Given the description of an element on the screen output the (x, y) to click on. 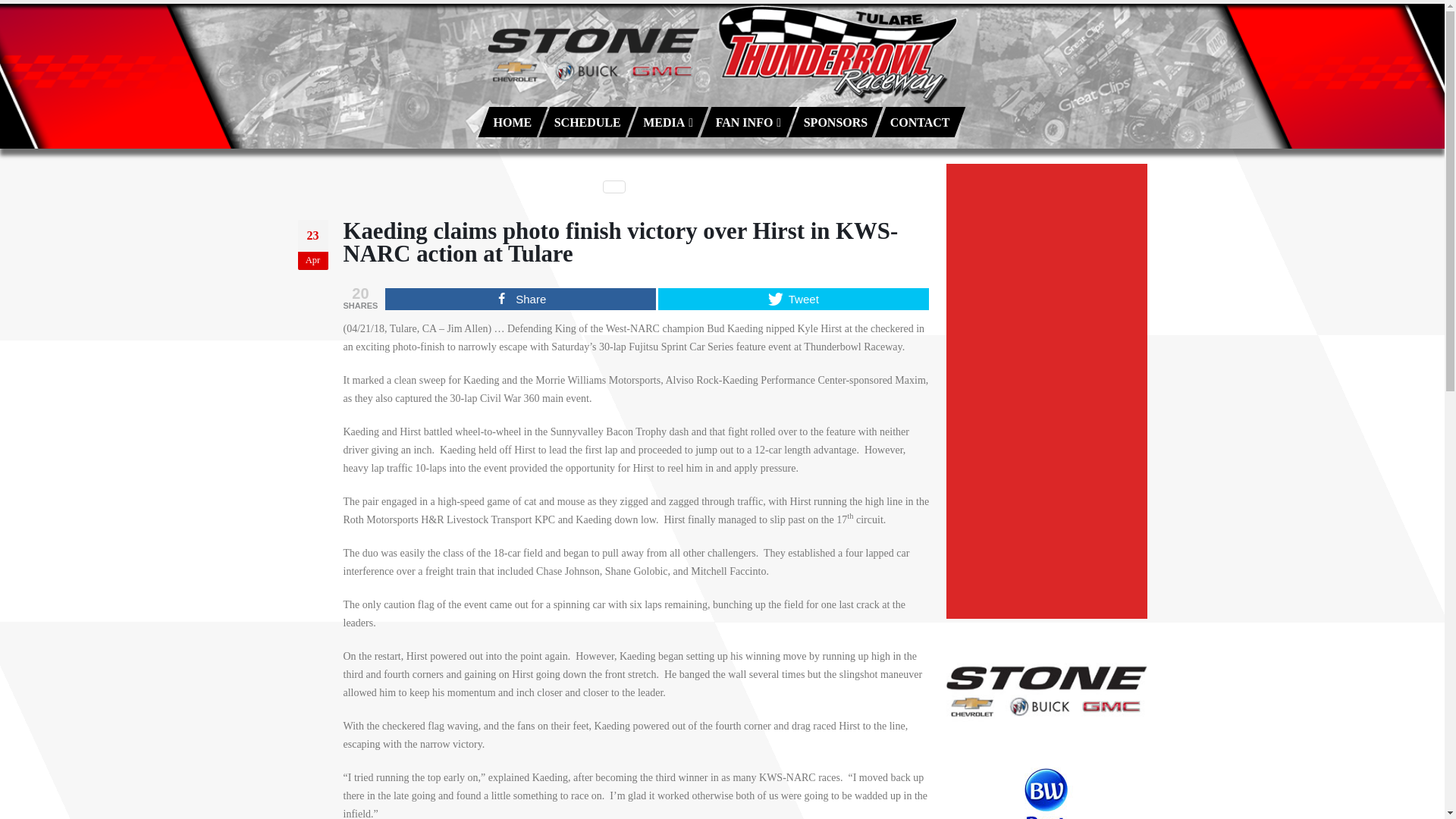
FAN INFO (749, 122)
SCHEDULE (587, 122)
CONTACT (919, 122)
SPONSORS (835, 122)
Thunderbowl Raceway - Exciting Sprint Car Racing (721, 54)
MEDIA (668, 122)
Share (520, 299)
HOME (512, 122)
Tweet (793, 299)
